Given the description of an element on the screen output the (x, y) to click on. 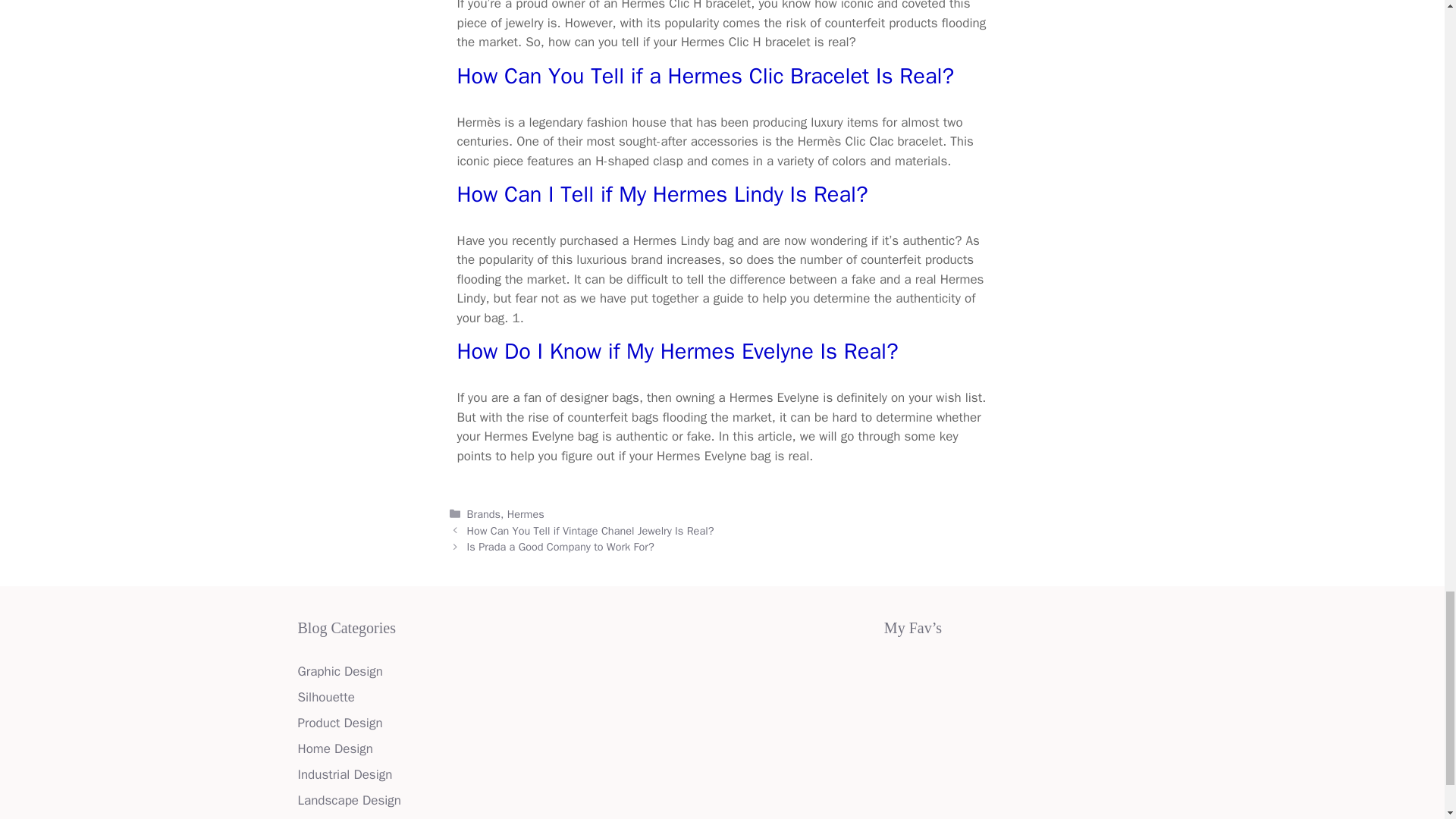
Graphic Design (339, 671)
Is Prada a Good Company to Work For? (560, 546)
How Can You Tell if a Hermes Clic Bracelet Is Real? (705, 76)
How Can You Tell if Vintage Chanel Jewelry Is Real? (590, 530)
How Do I Know if My Hermes Evelyne Is Real? (677, 351)
How Can I Tell if My Hermes Lindy Is Real? (662, 194)
Brands (483, 513)
Silhouette (325, 697)
Hermes (525, 513)
Product Design (339, 722)
Home Design (334, 748)
